Given the description of an element on the screen output the (x, y) to click on. 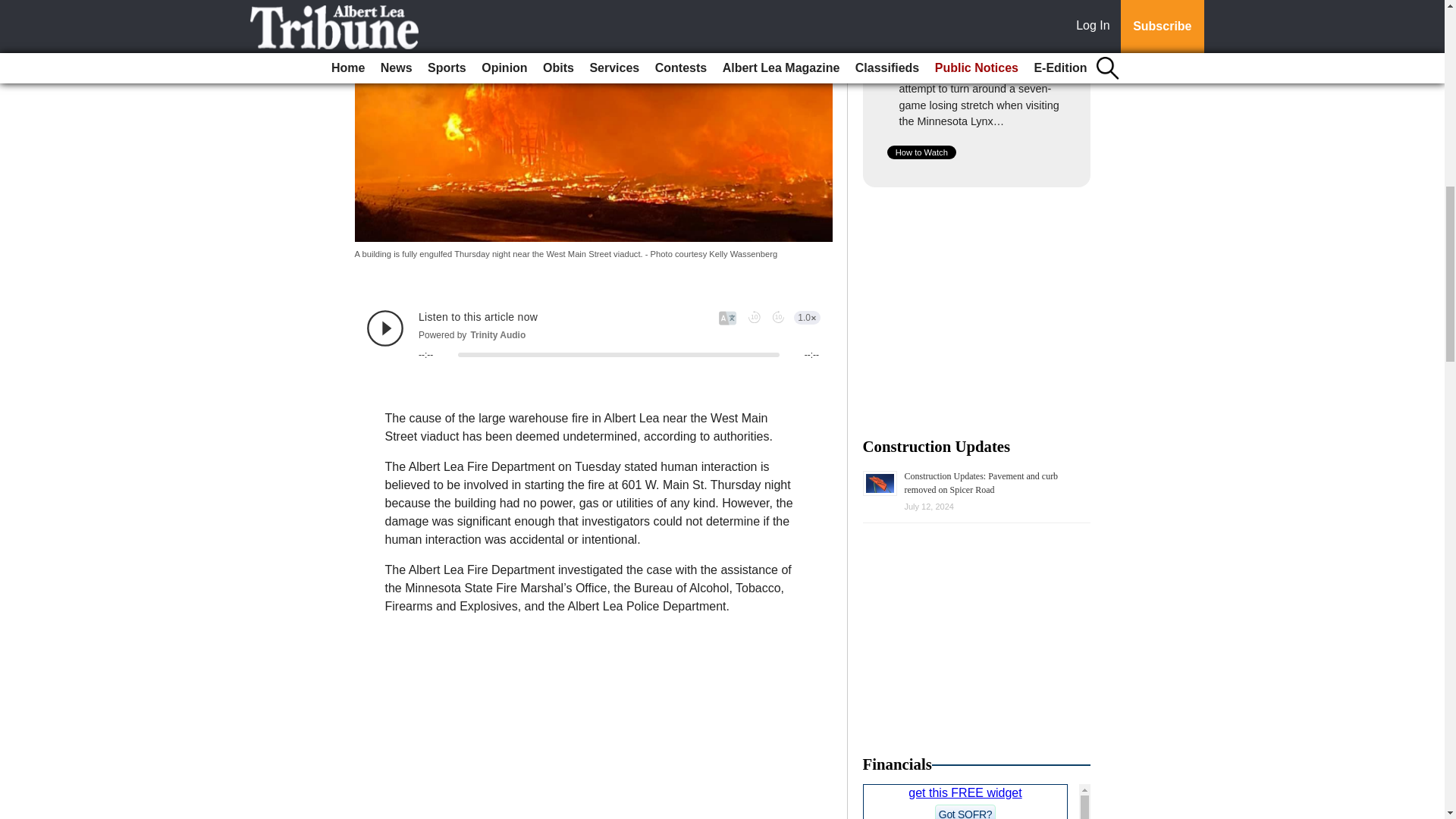
Trinity Audio Player (592, 334)
US Market Update (976, 801)
